Given the description of an element on the screen output the (x, y) to click on. 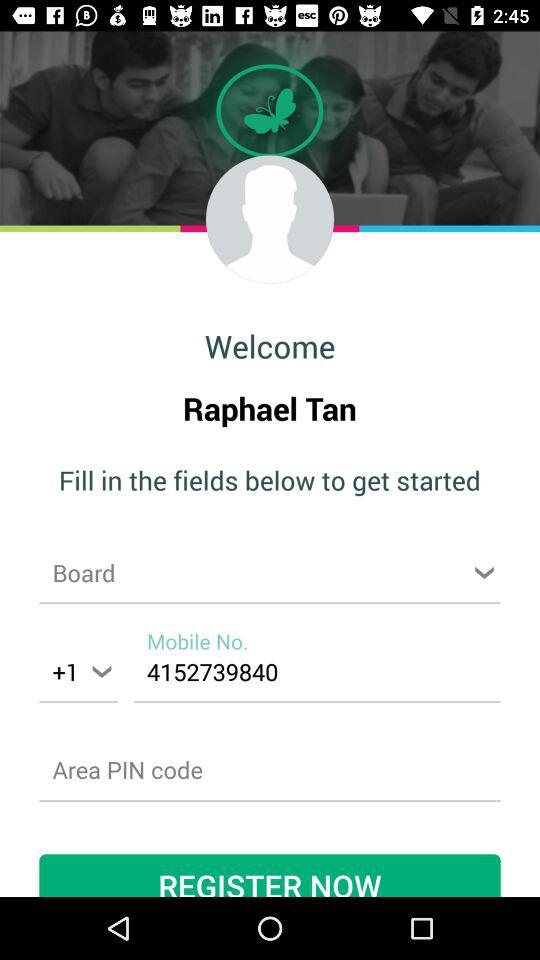
profile sending button (269, 219)
